Given the description of an element on the screen output the (x, y) to click on. 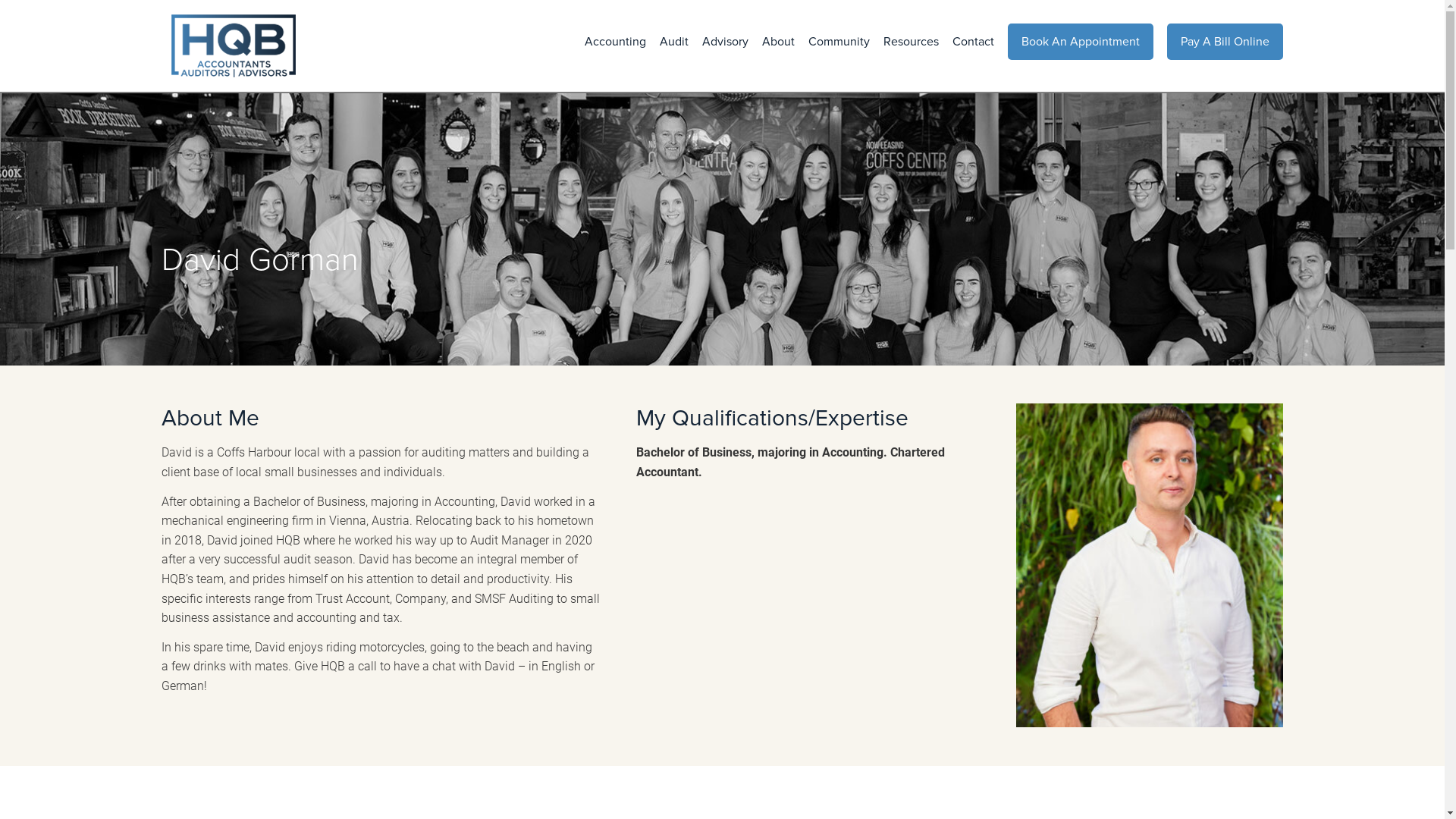
Community Element type: text (831, 41)
Audit Element type: text (667, 41)
Advisory Element type: text (718, 41)
Pay A Bill Online Element type: text (1225, 41)
HQB Accountants Auditors Advisors Element type: hover (293, 45)
Resources Element type: text (903, 41)
Book An Appointment Element type: text (1080, 41)
About Element type: text (771, 41)
Accounting Element type: text (608, 41)
Contact Element type: text (966, 41)
